Given the description of an element on the screen output the (x, y) to click on. 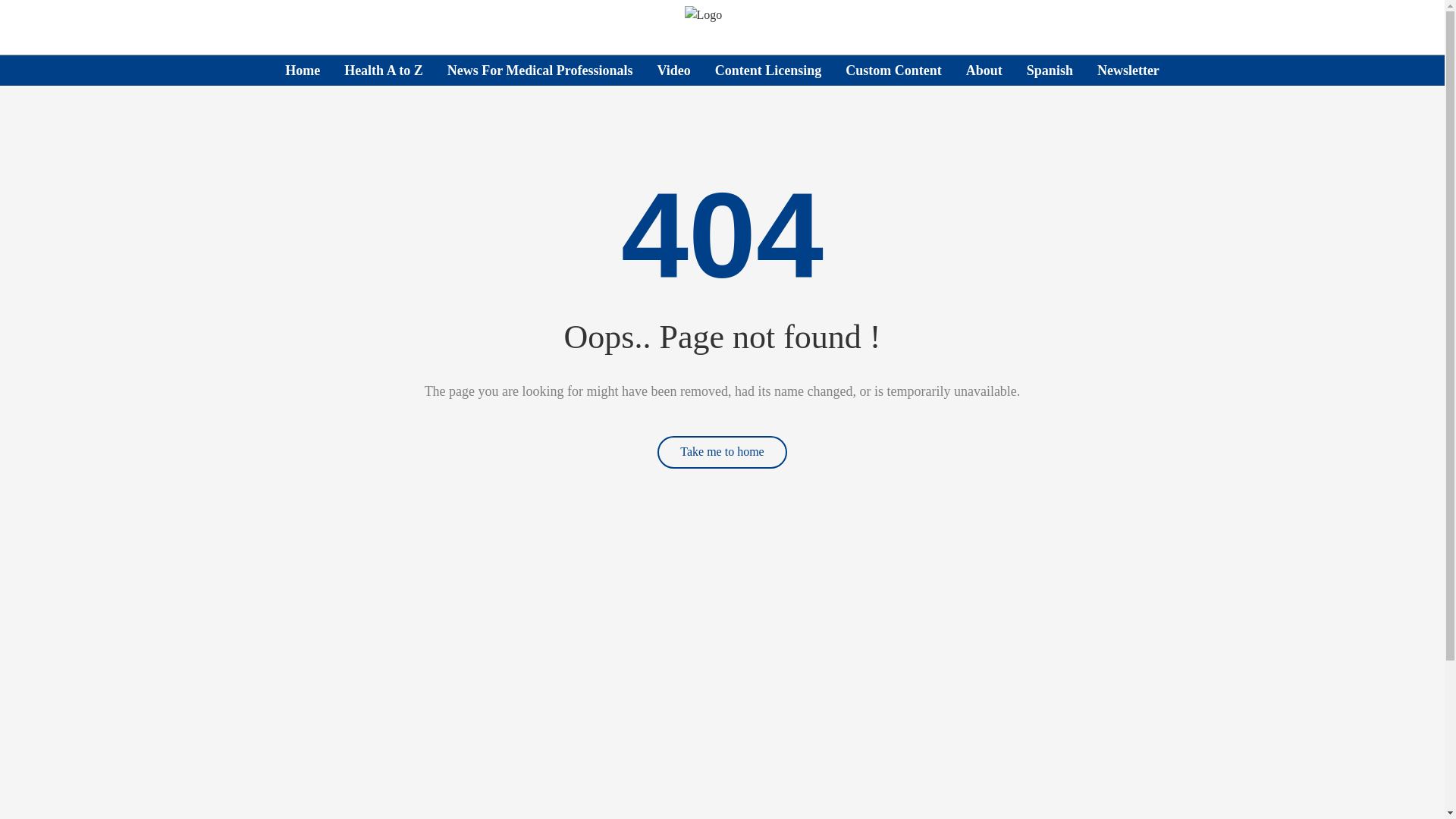
Health A to Z (383, 70)
Home (302, 70)
